Given the description of an element on the screen output the (x, y) to click on. 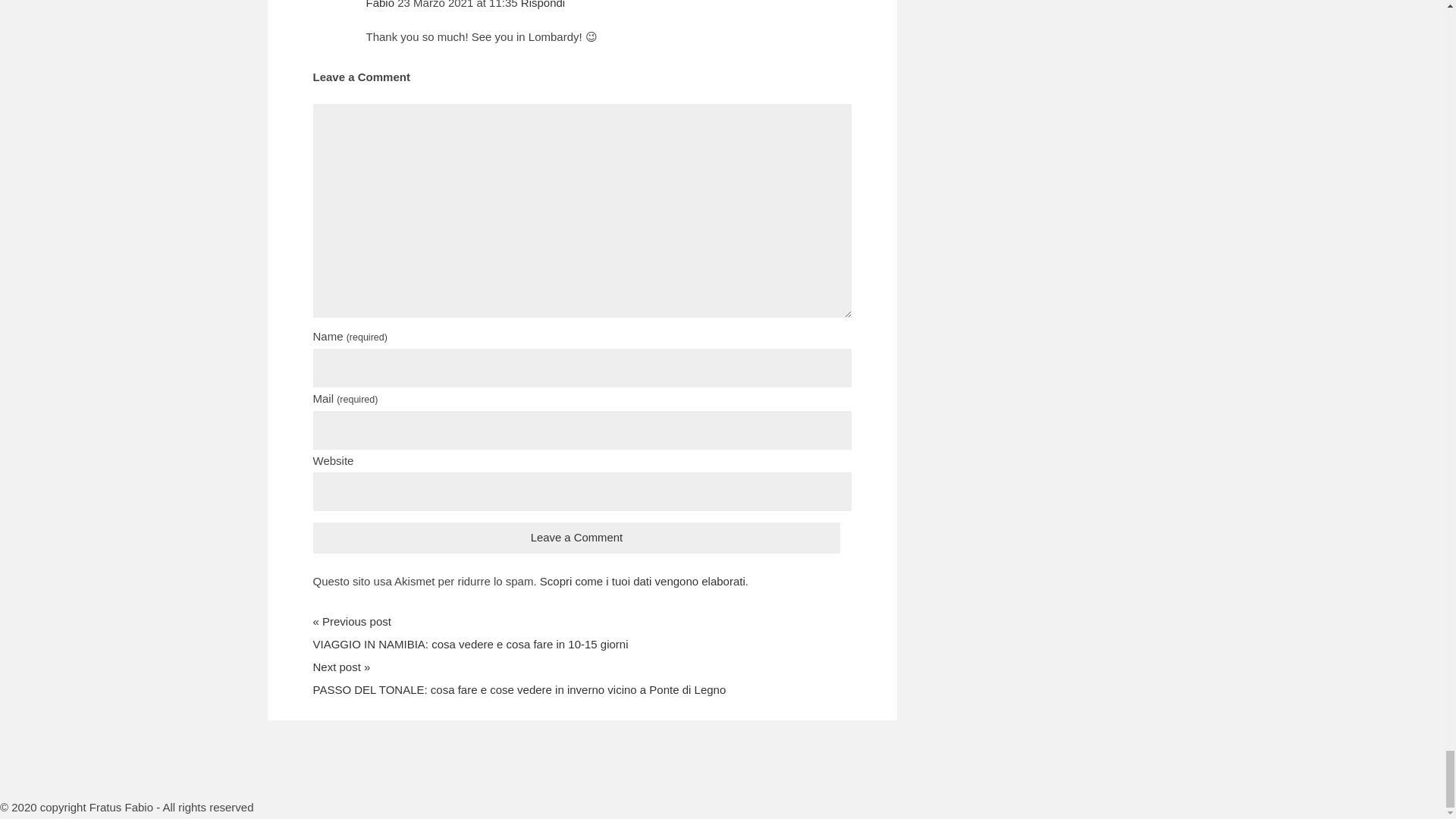
Leave a Comment (576, 537)
